Given the description of an element on the screen output the (x, y) to click on. 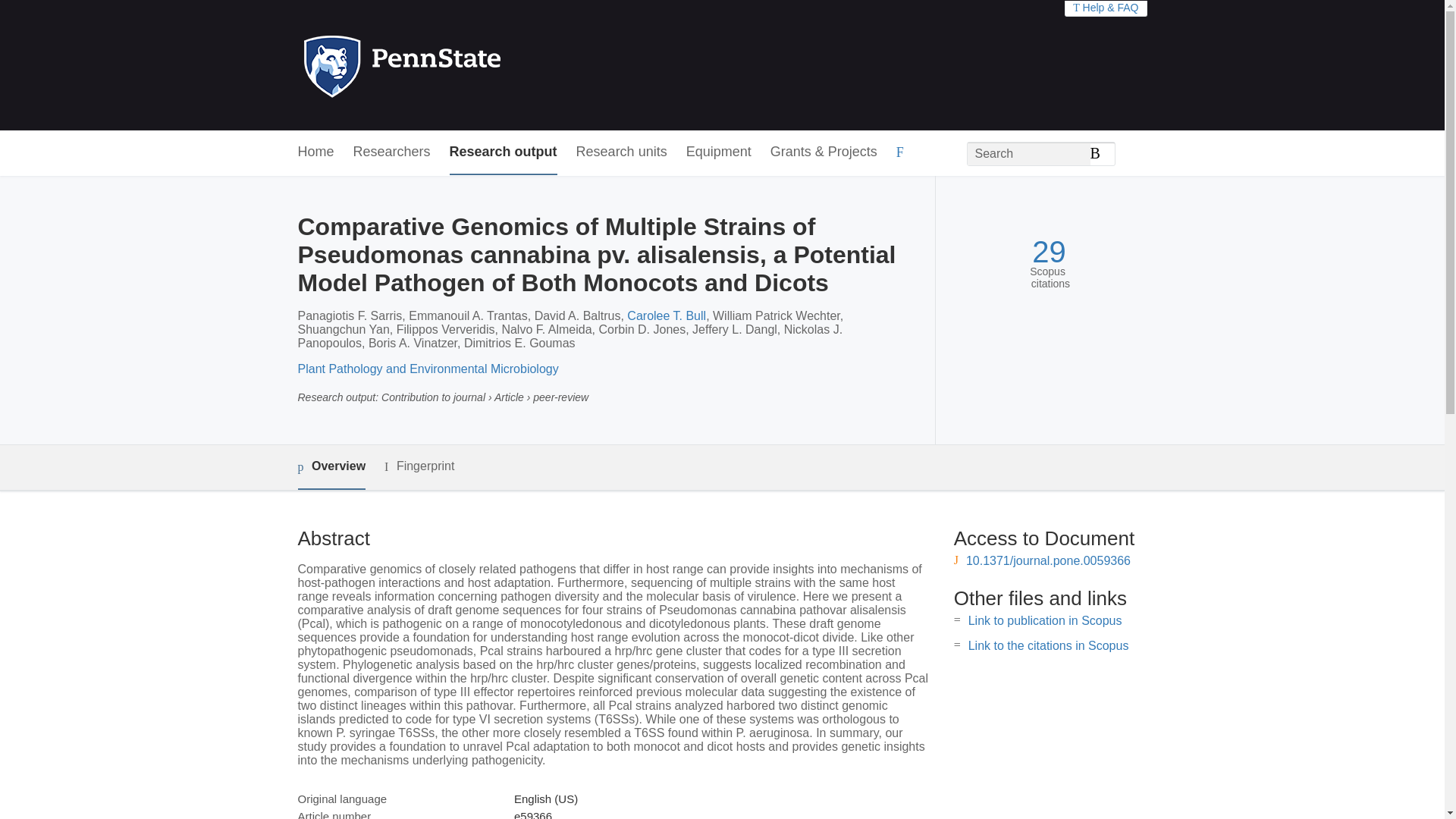
Research output (503, 152)
Researchers (391, 152)
Research units (621, 152)
Carolee T. Bull (666, 315)
Fingerprint (419, 466)
Link to publication in Scopus (1045, 620)
Equipment (718, 152)
Plant Pathology and Environmental Microbiology (427, 368)
Overview (331, 467)
